Given the description of an element on the screen output the (x, y) to click on. 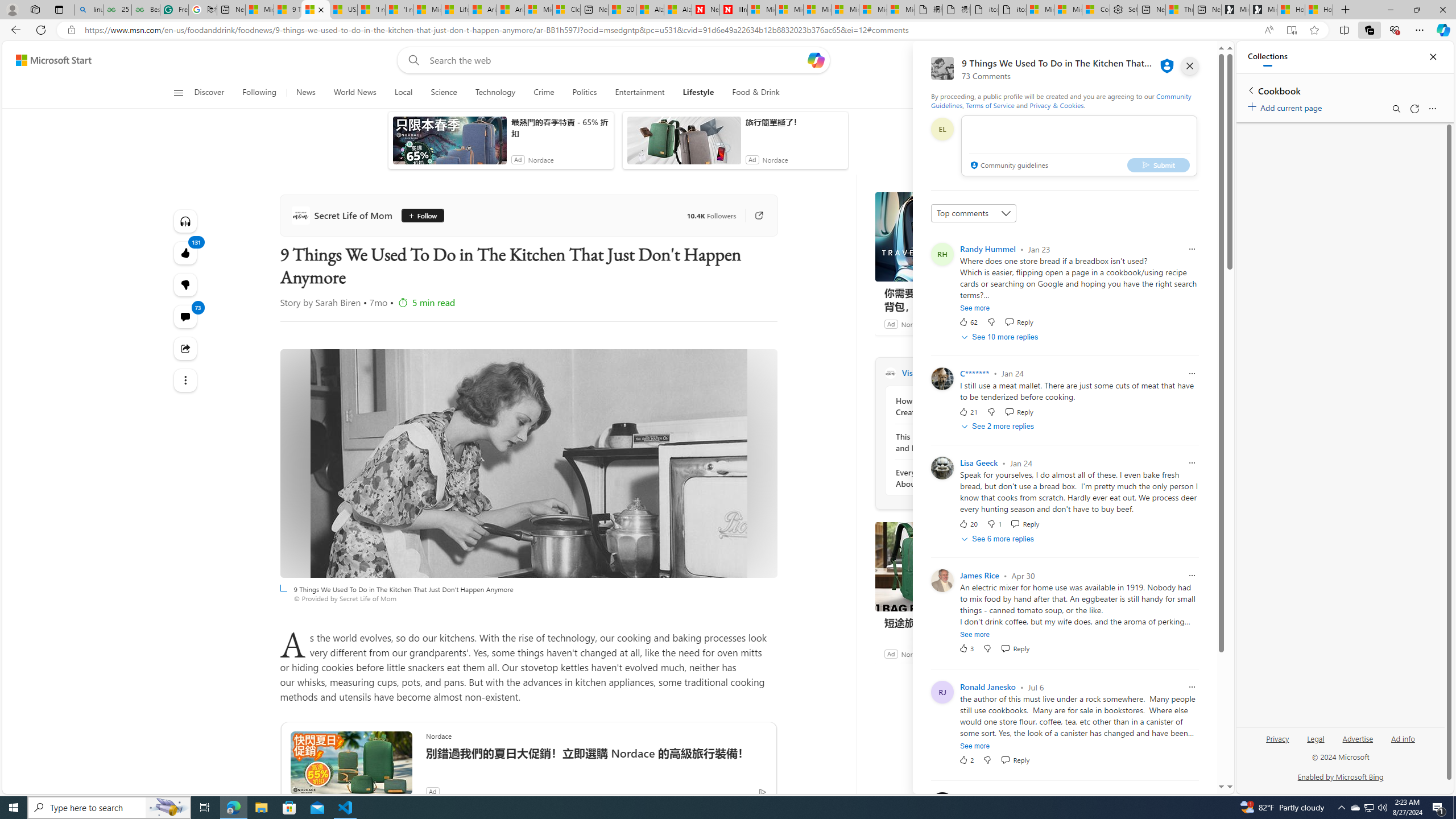
Three Ways To Stop Sweating So Much (1179, 9)
Lori B (970, 798)
21 Like (967, 411)
131 Like (184, 252)
See 6 more replies (998, 539)
62 Like (967, 321)
